Given the description of an element on the screen output the (x, y) to click on. 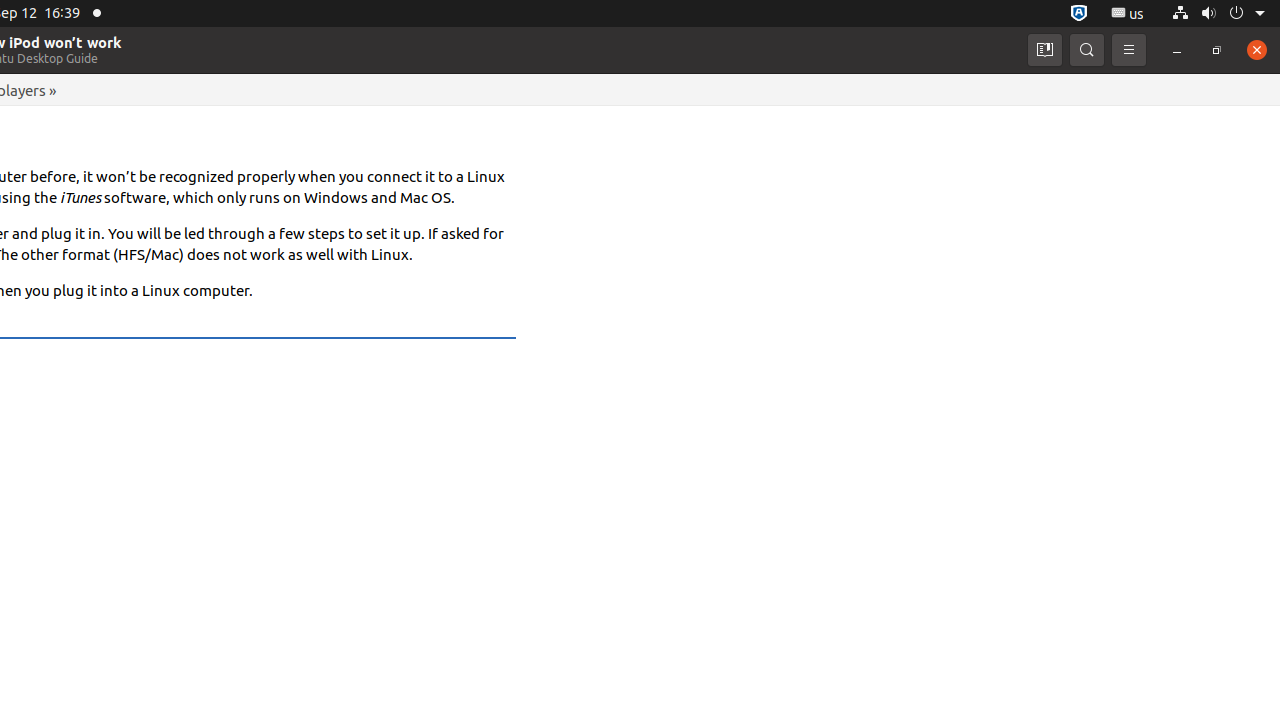
Close Element type: push-button (1257, 50)
Restore Element type: push-button (1217, 50)
Minimize Element type: push-button (1177, 50)
